Given the description of an element on the screen output the (x, y) to click on. 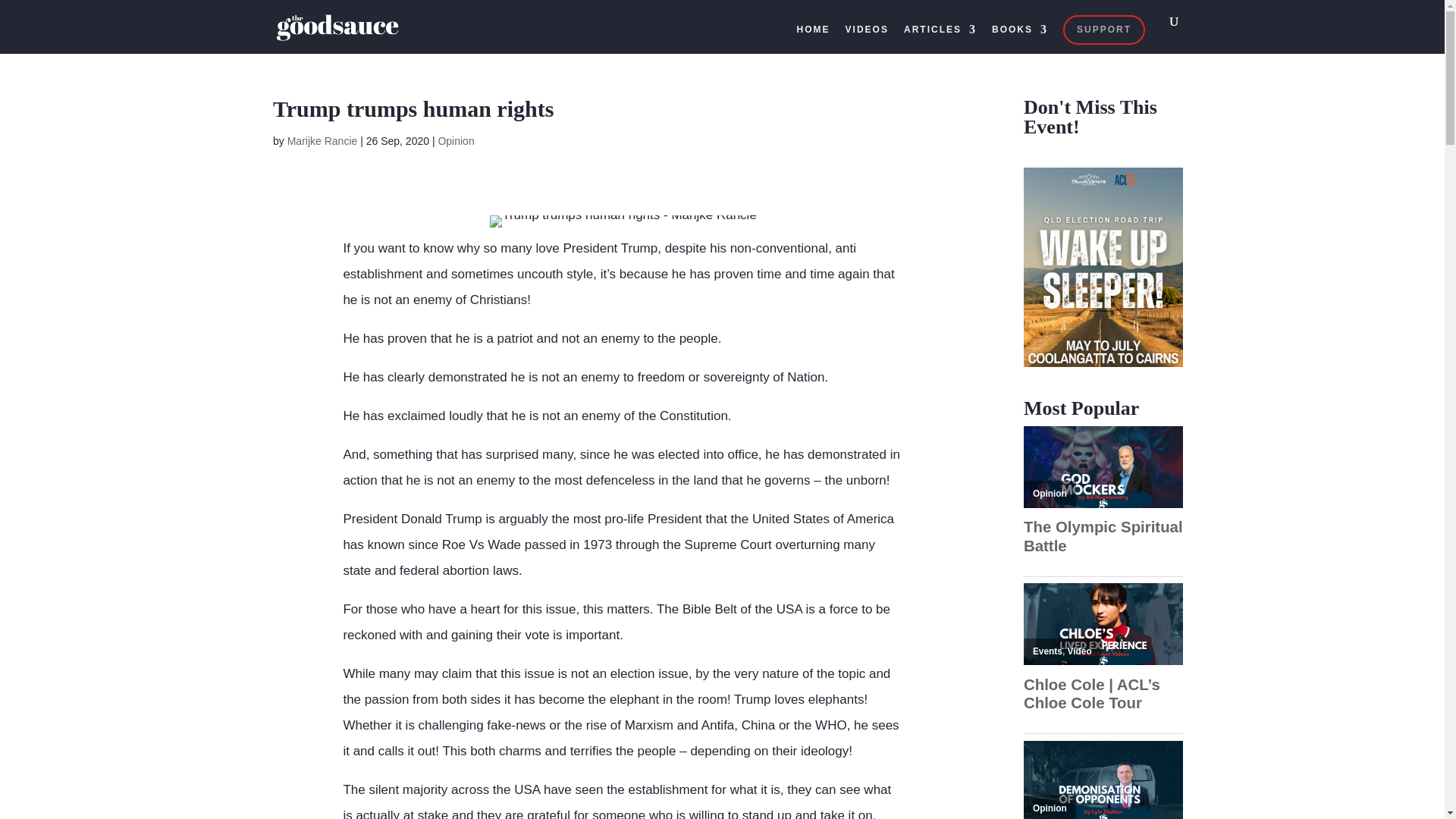
The Olympic Spiritual Battle (1102, 536)
Trump trumps human rights - Marijke Rancie (623, 221)
Posts by Marijke Rancie (322, 141)
BOOKS (1019, 39)
Marijke Rancie (322, 141)
Opinion (1049, 493)
Events (1047, 651)
Opinion (1049, 808)
ARTICLES (940, 39)
VIDEOS (866, 39)
HOME (812, 39)
SUPPORT (1103, 30)
Video (1079, 651)
Opinion (456, 141)
